Given the description of an element on the screen output the (x, y) to click on. 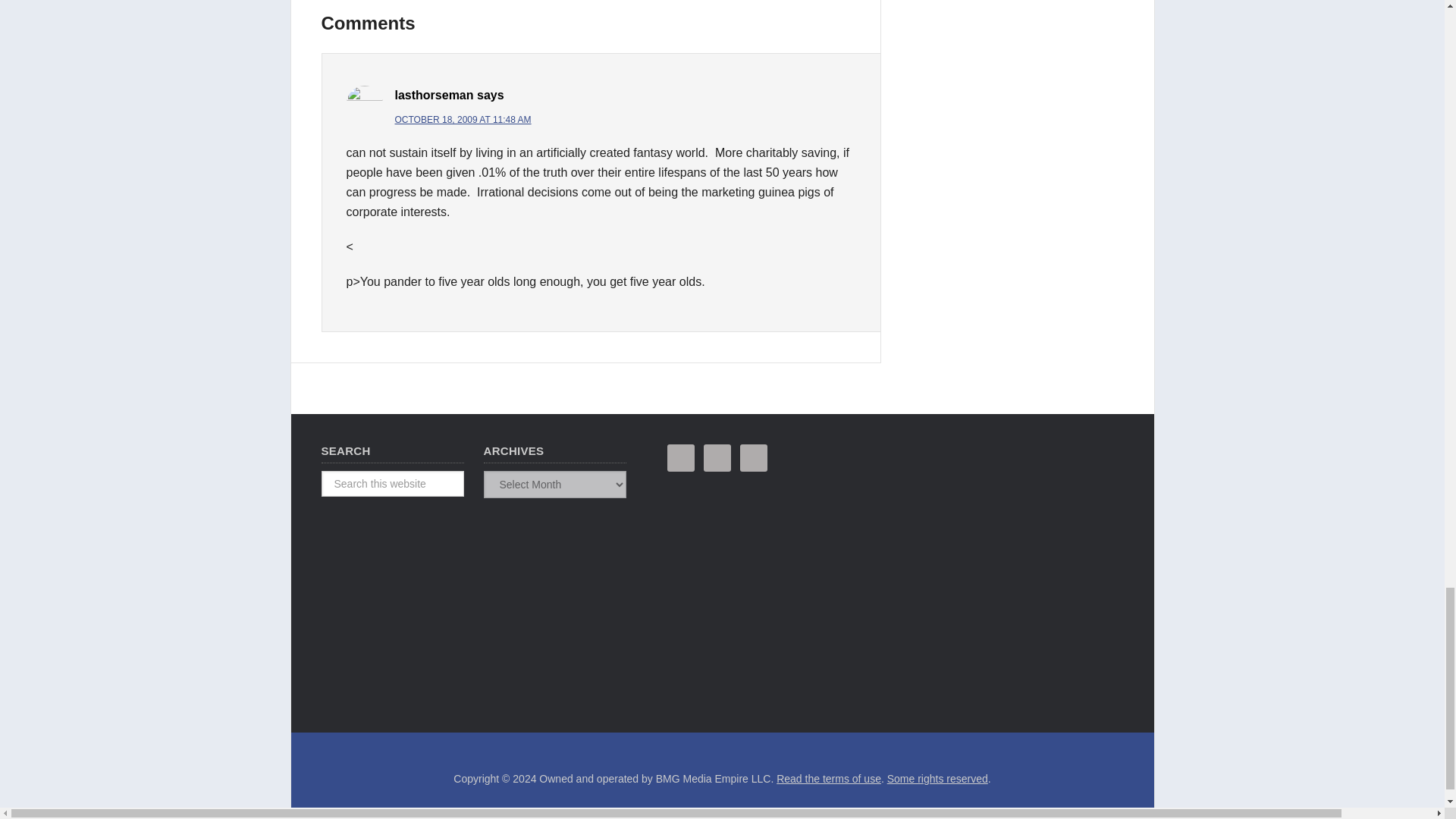
OCTOBER 18, 2009 AT 11:48 AM (462, 119)
